Given the description of an element on the screen output the (x, y) to click on. 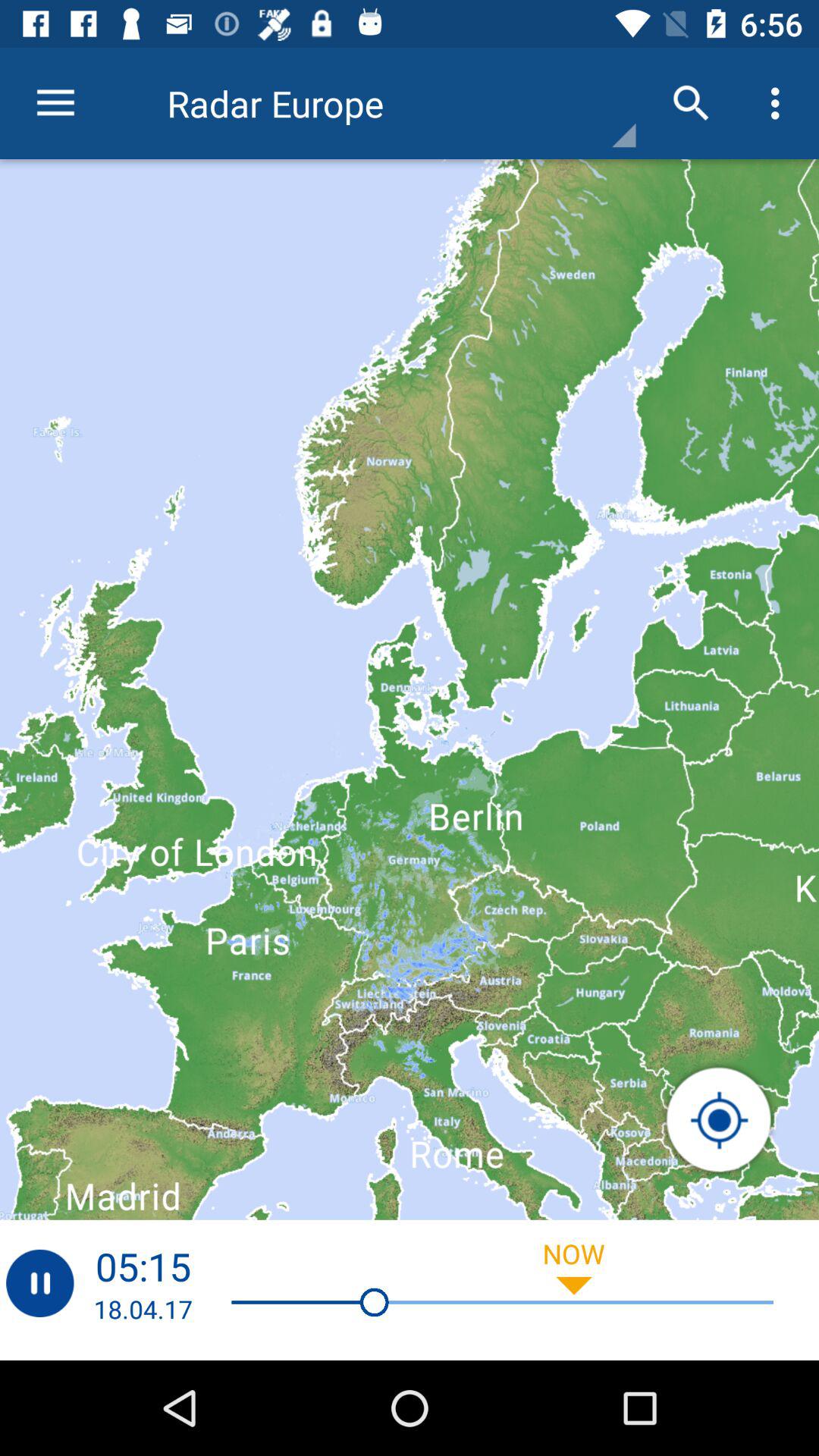
go to pass botten (39, 1283)
